Given the description of an element on the screen output the (x, y) to click on. 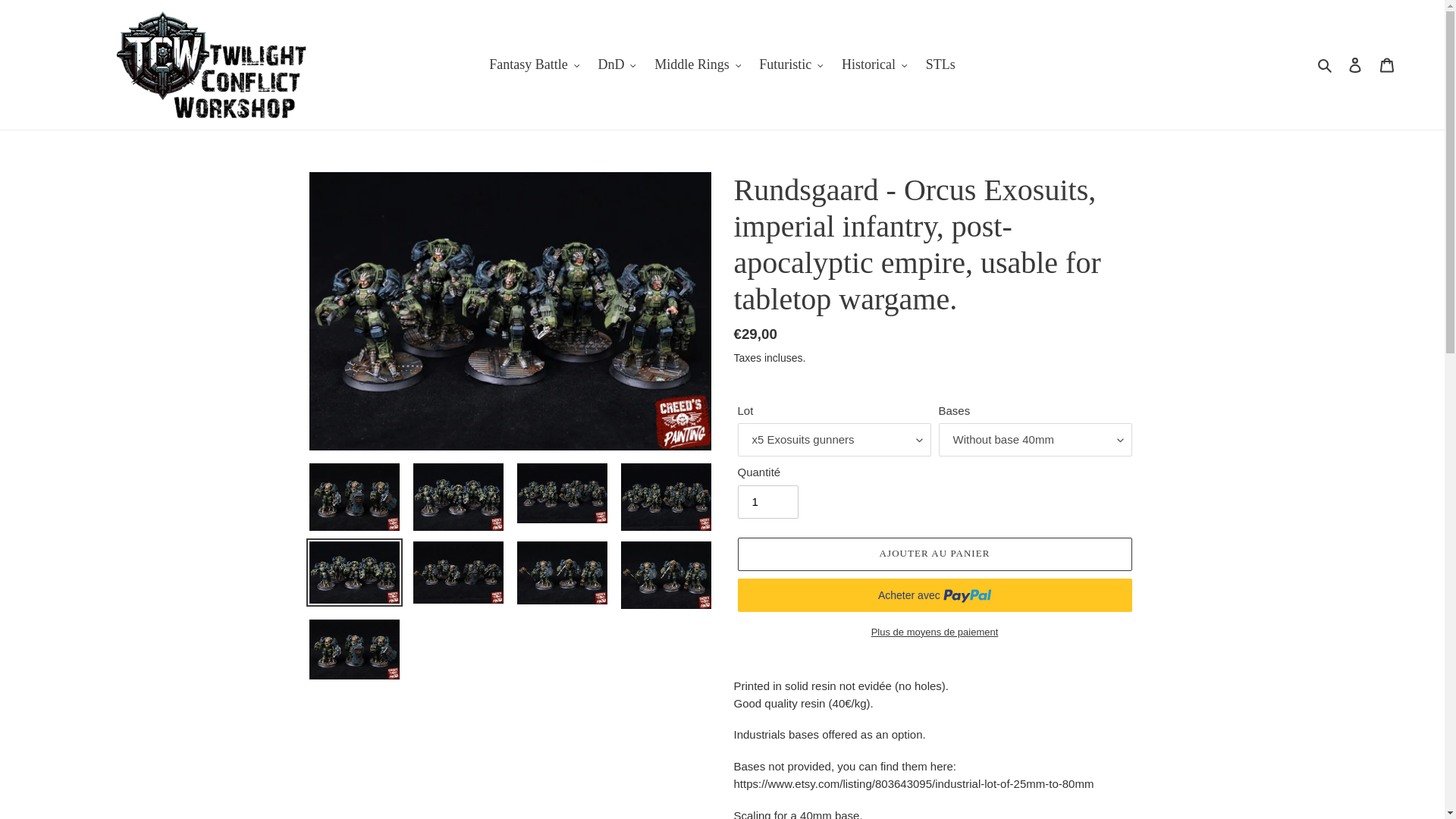
1 (766, 501)
DnD (616, 64)
Middle Rings (697, 64)
Fantasy Battle (533, 64)
